Given the description of an element on the screen output the (x, y) to click on. 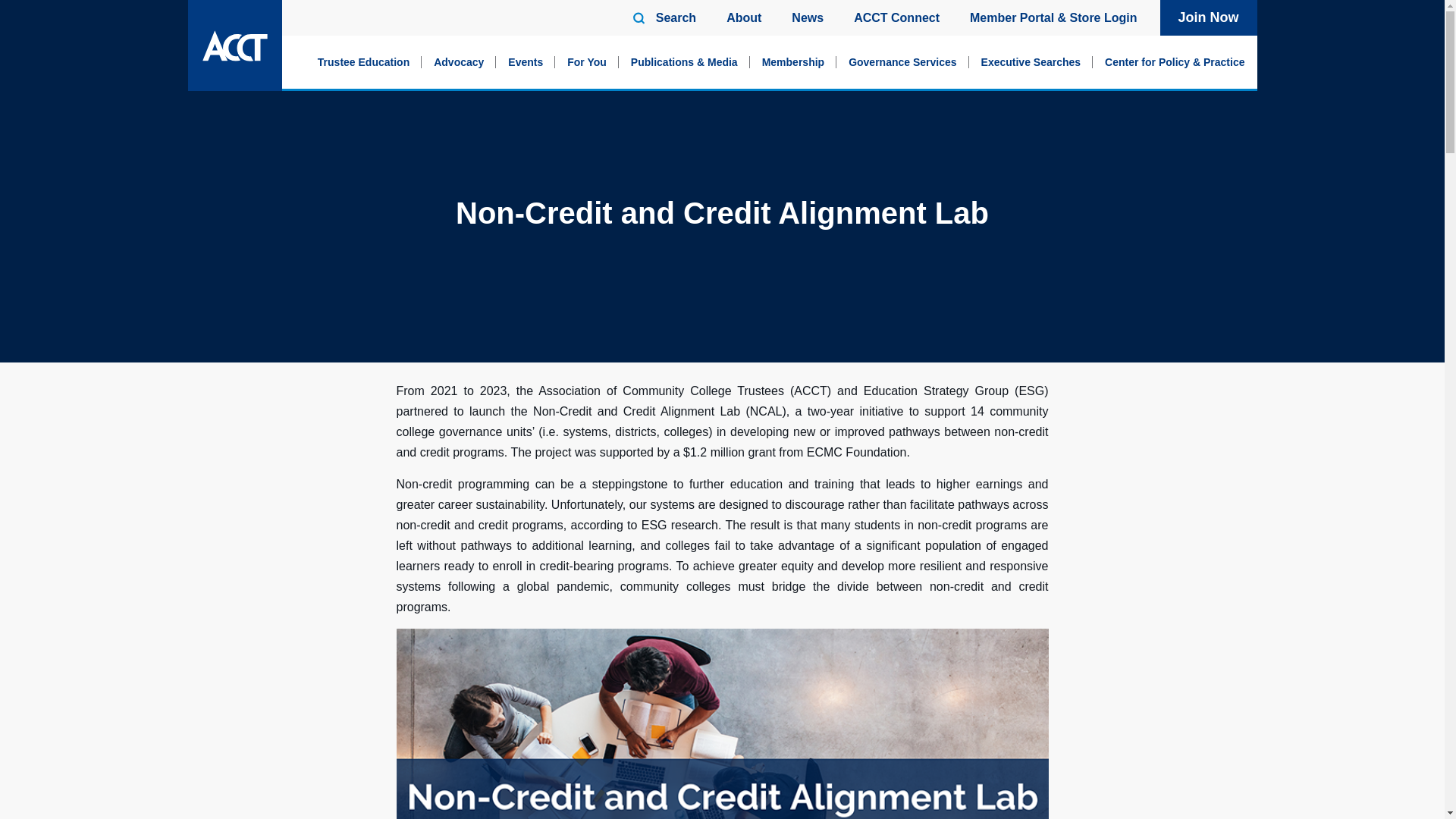
Trustee Education (363, 62)
News and Announcements (808, 18)
Advocacy (459, 62)
Search (675, 18)
Expand menu Advocacy  (459, 62)
Expand menu Events (525, 62)
Search (1191, 45)
Join Now (1208, 18)
Events (525, 62)
News (808, 18)
Expand menu For You (586, 62)
ACCT Connect (896, 18)
Expand menu Membership (792, 62)
For You (586, 62)
About (743, 18)
